Given the description of an element on the screen output the (x, y) to click on. 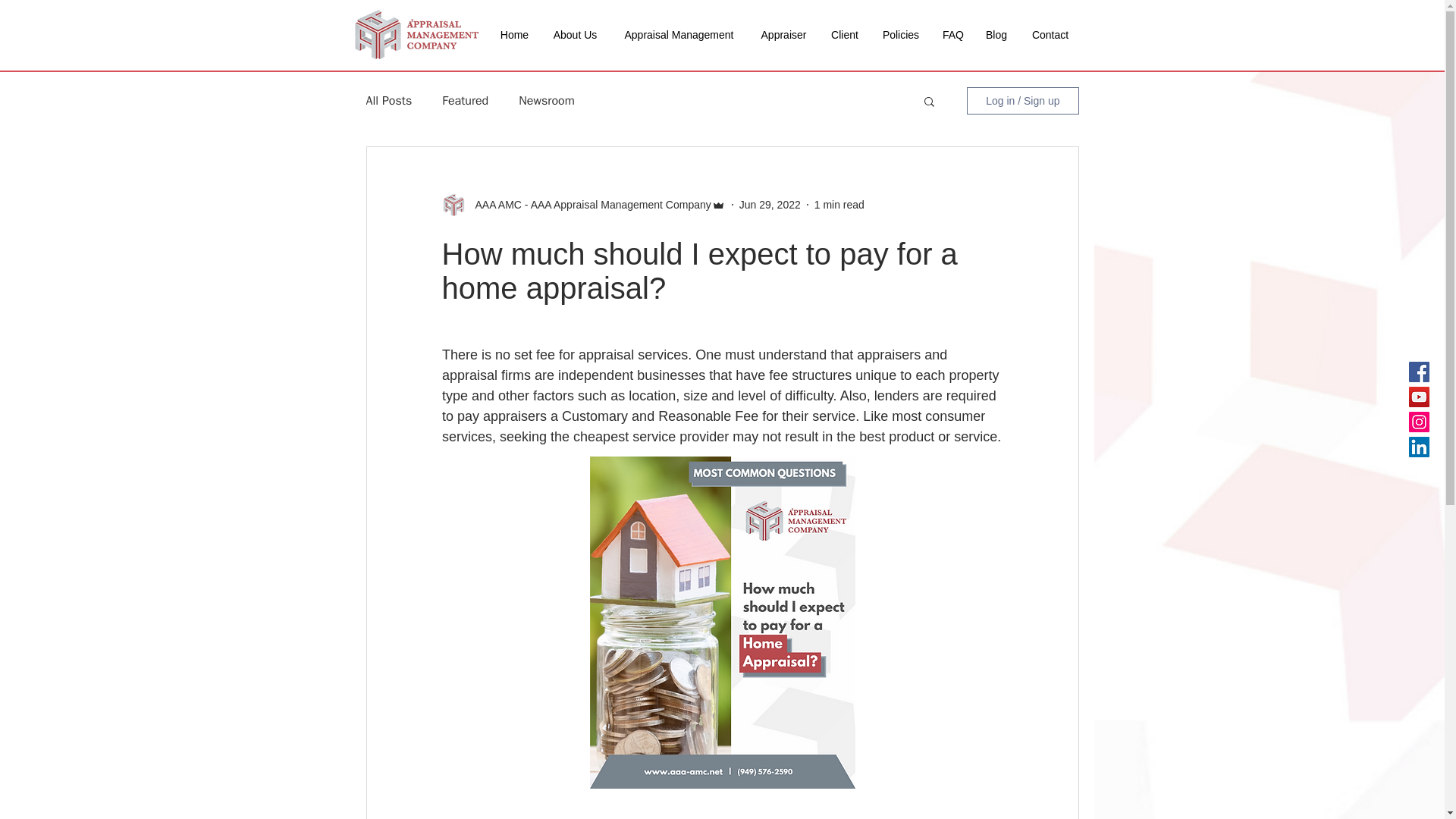
Appraisal Management (679, 34)
Featured (464, 100)
AAA AMC - AAA Appraisal Management Company (587, 204)
Contact (1050, 34)
Policies (900, 34)
About Us (575, 34)
FAQ (952, 34)
1 min read (838, 204)
Client (844, 34)
Home (513, 34)
Appraiser (783, 34)
Jun 29, 2022 (769, 204)
Blog (996, 34)
Newsroom (546, 100)
All Posts (388, 100)
